Given the description of an element on the screen output the (x, y) to click on. 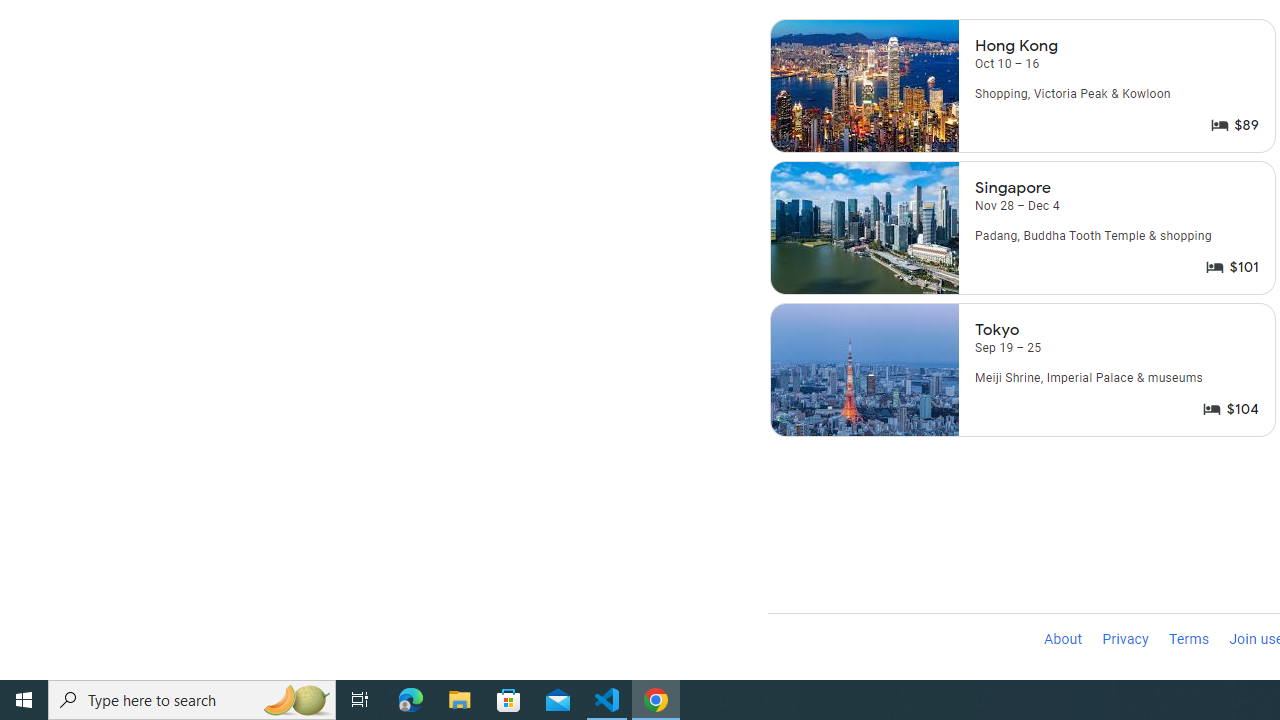
About Google Travel (1062, 639)
